Given the description of an element on the screen output the (x, y) to click on. 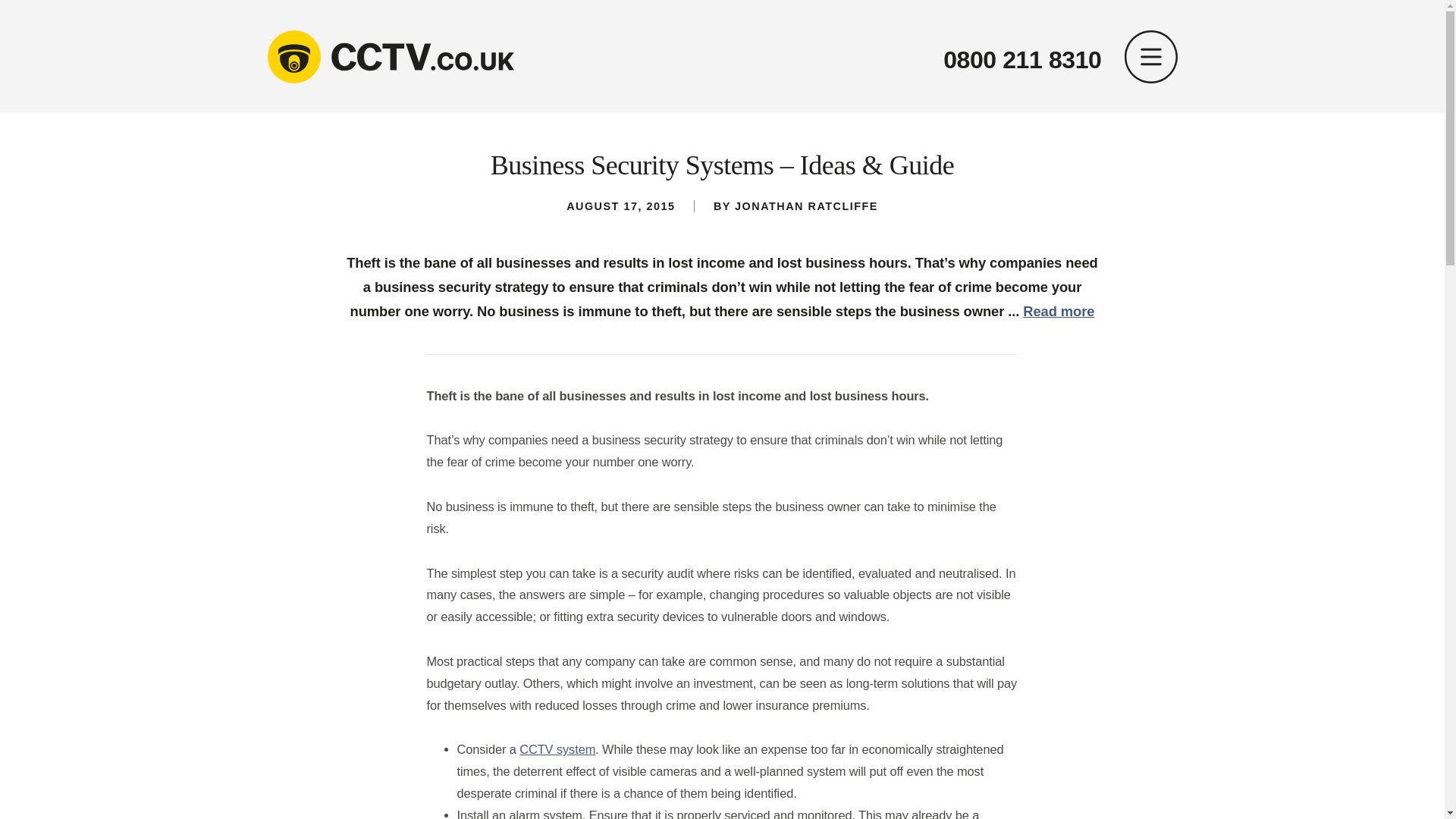
CCTV system (557, 748)
Read more (1058, 311)
CCTV.co.uk Logo (389, 56)
0800 211 8310 (1021, 59)
